Given the description of an element on the screen output the (x, y) to click on. 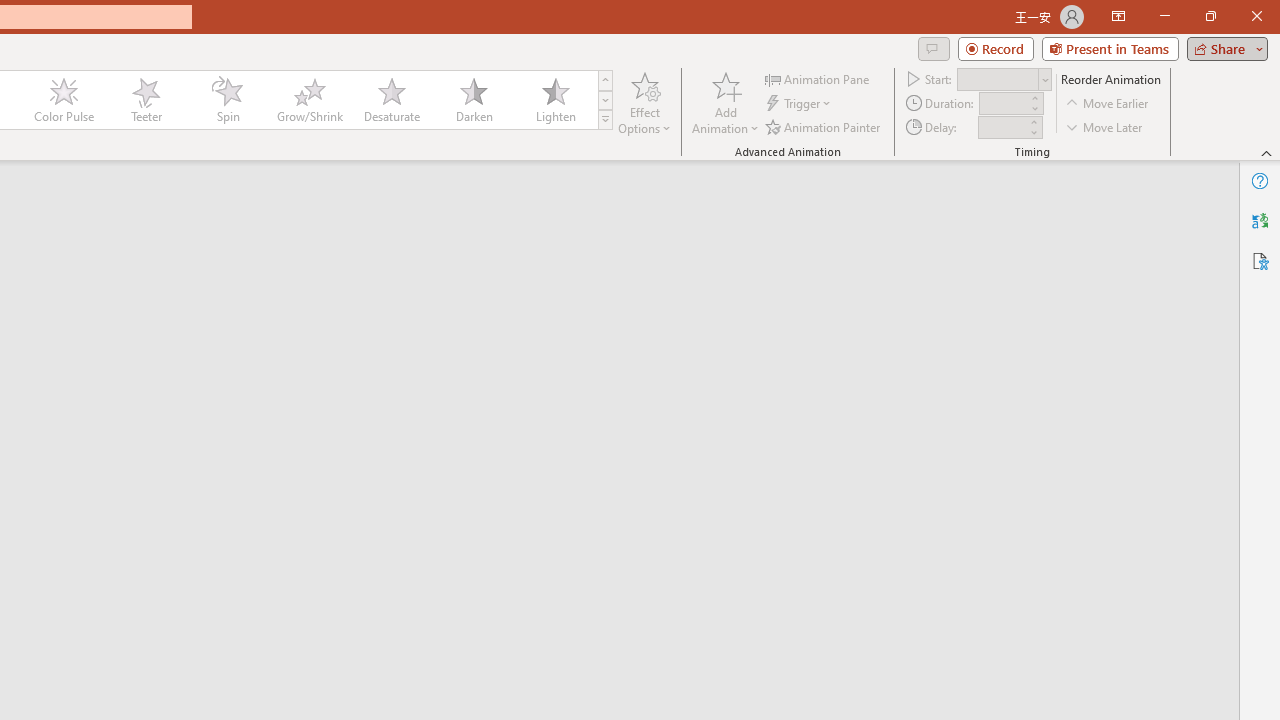
Teeter (145, 100)
Animation Delay (1002, 127)
Darken (473, 100)
Grow/Shrink (309, 100)
Spin (227, 100)
